Given the description of an element on the screen output the (x, y) to click on. 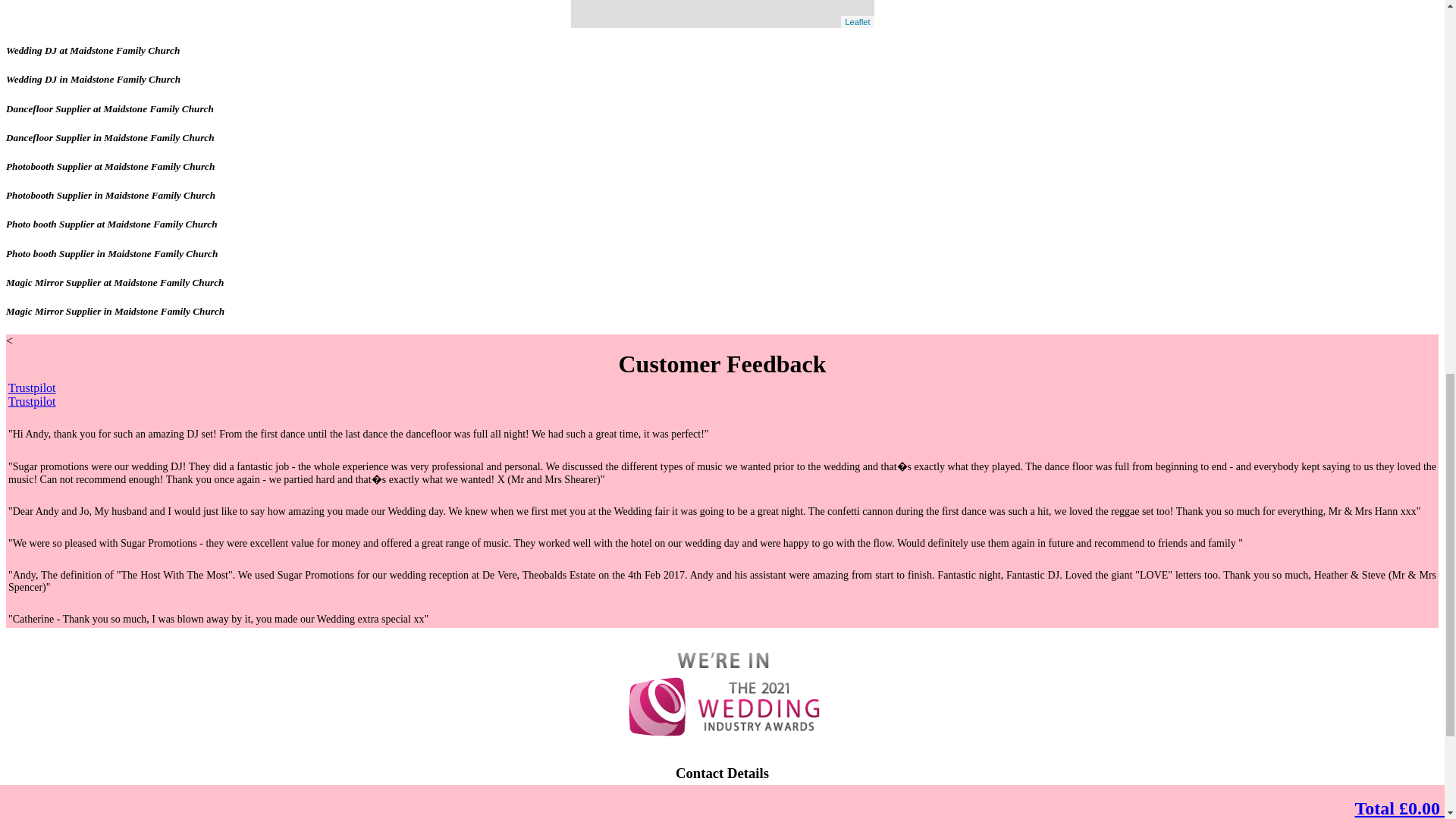
Leaflet (856, 21)
Trustpilot (32, 400)
Trustpilot (32, 387)
A JS library for interactive maps (856, 21)
